Given the description of an element on the screen output the (x, y) to click on. 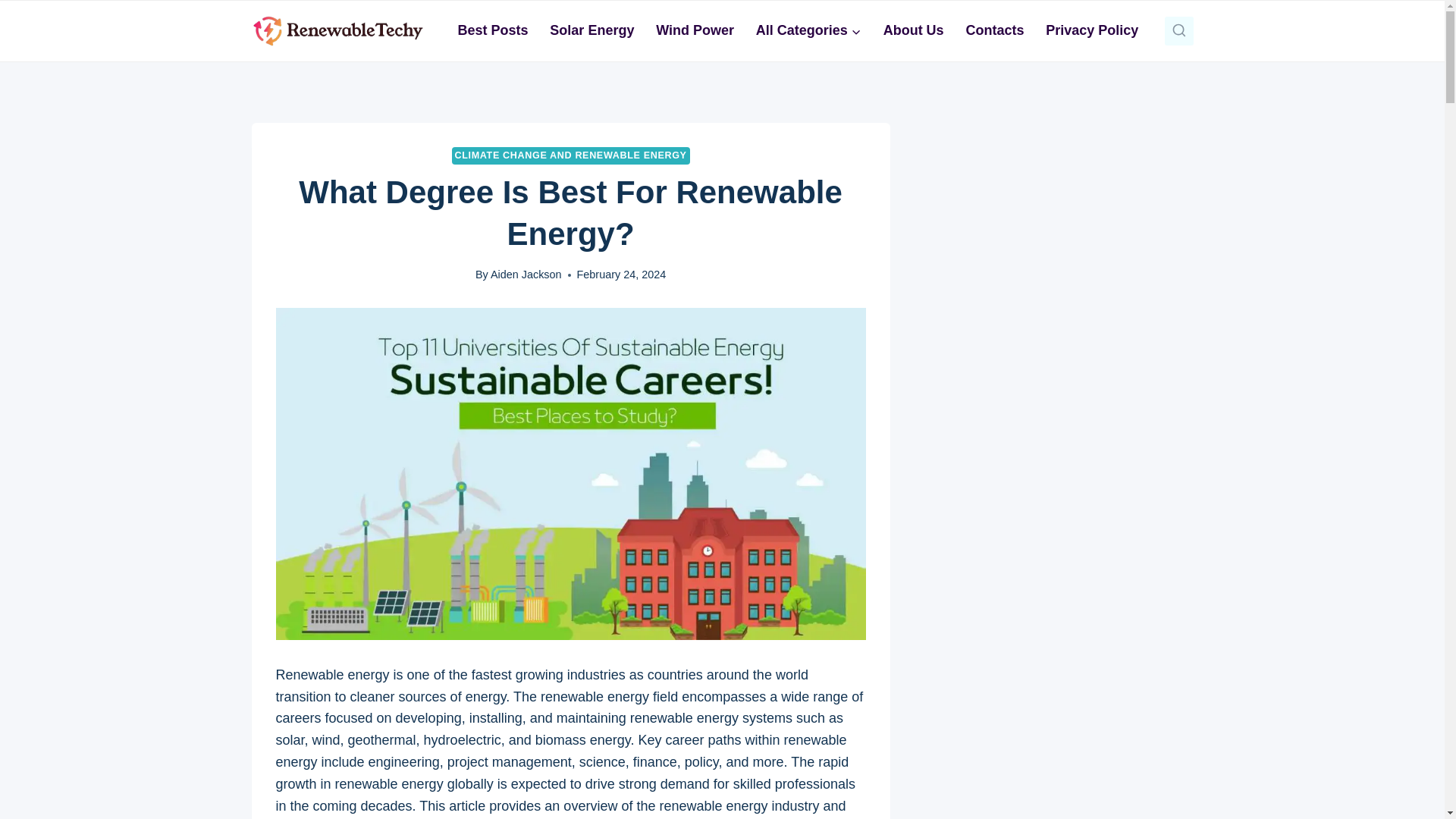
Aiden Jackson (526, 274)
Contacts (995, 30)
Best Posts (492, 30)
About Us (913, 30)
All Categories (808, 30)
Privacy Policy (1092, 30)
Solar Energy (591, 30)
Wind Power (695, 30)
CLIMATE CHANGE AND RENEWABLE ENERGY (570, 155)
